Given the description of an element on the screen output the (x, y) to click on. 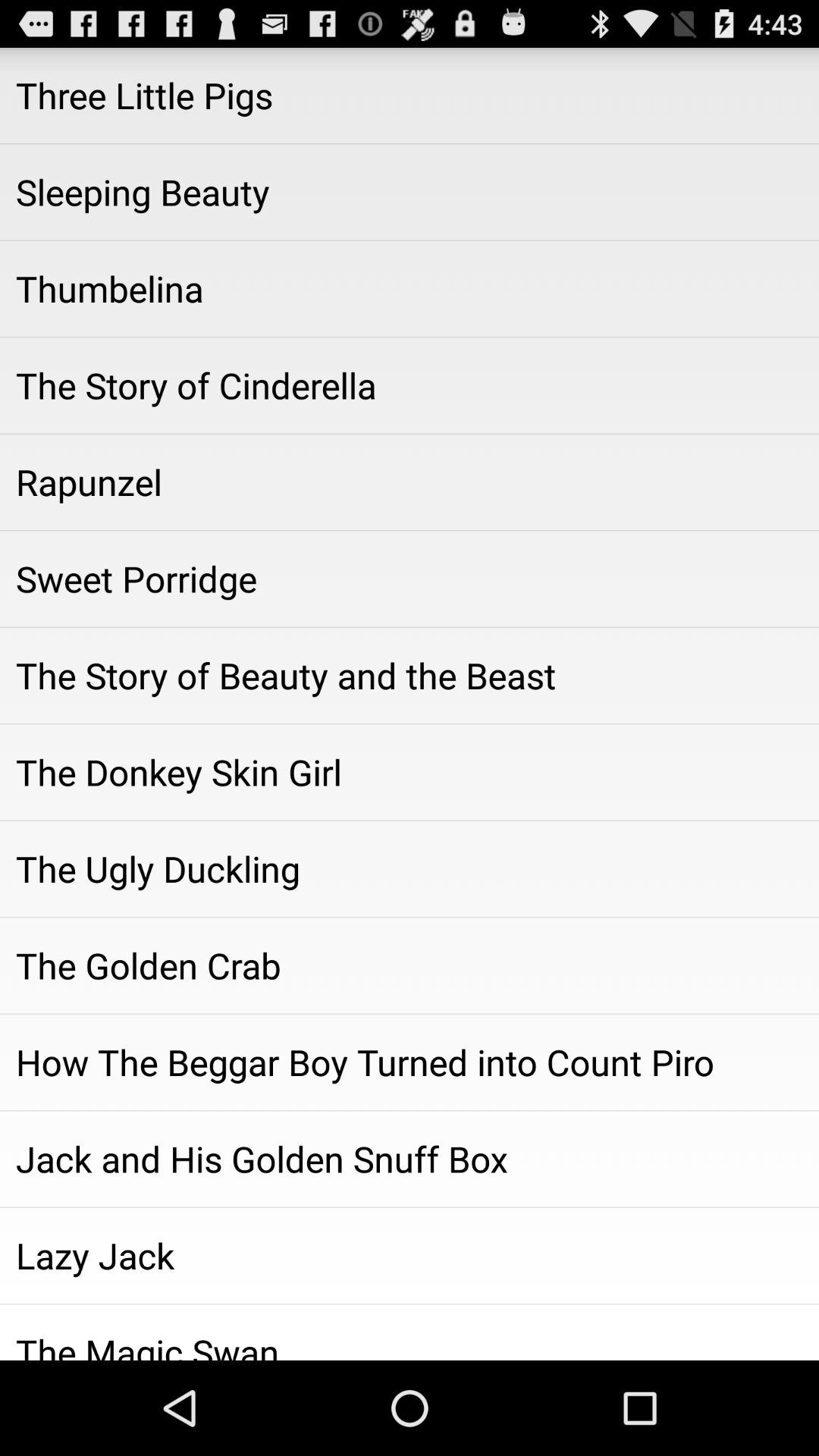
press the icon above the how the beggar (409, 965)
